Given the description of an element on the screen output the (x, y) to click on. 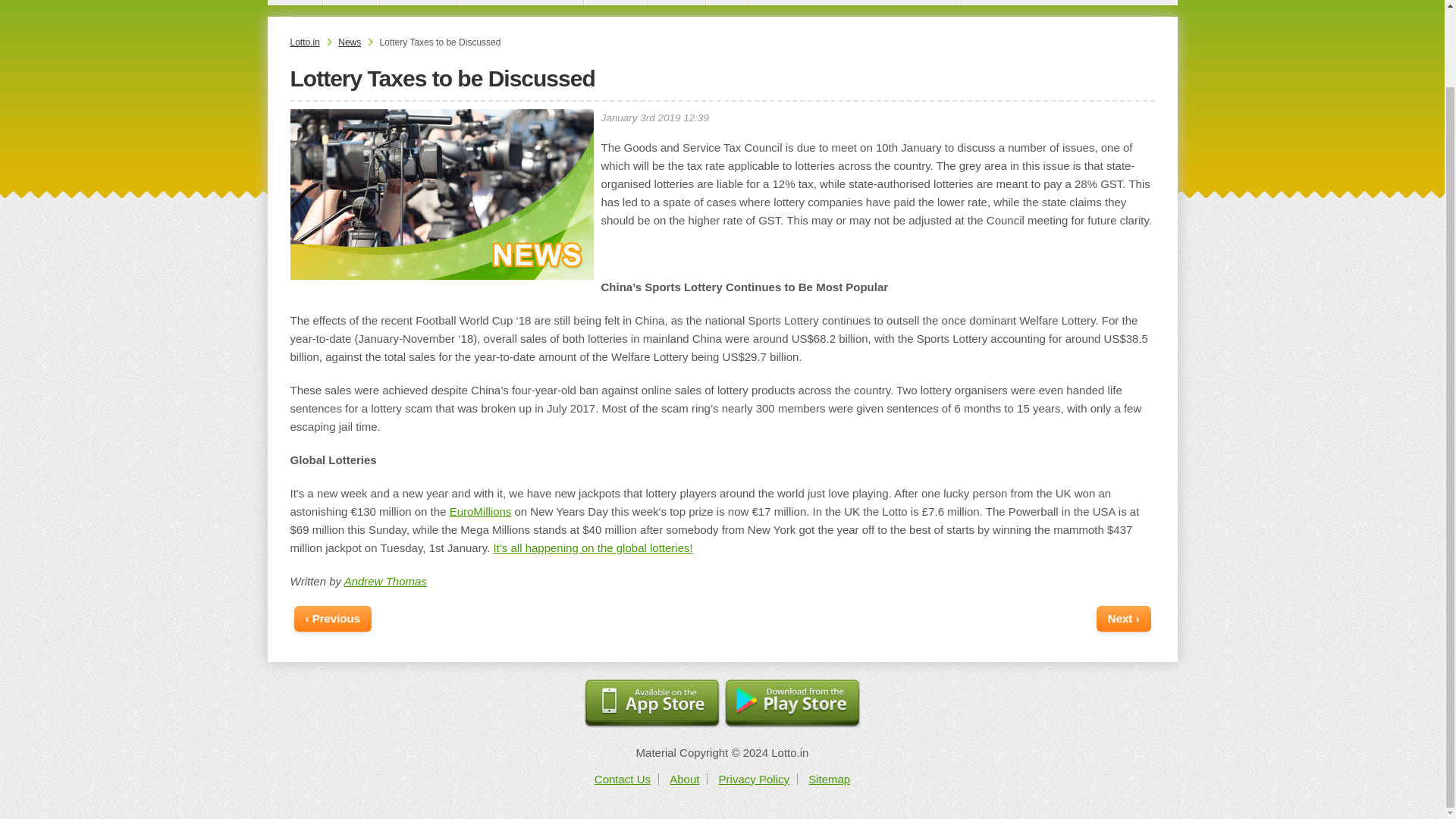
Kerala (295, 2)
Lotto India (418, 2)
Kerala Lotteries (295, 2)
Nagaland (548, 2)
Sikkim (351, 2)
Jaldi 3 (485, 2)
